Given the description of an element on the screen output the (x, y) to click on. 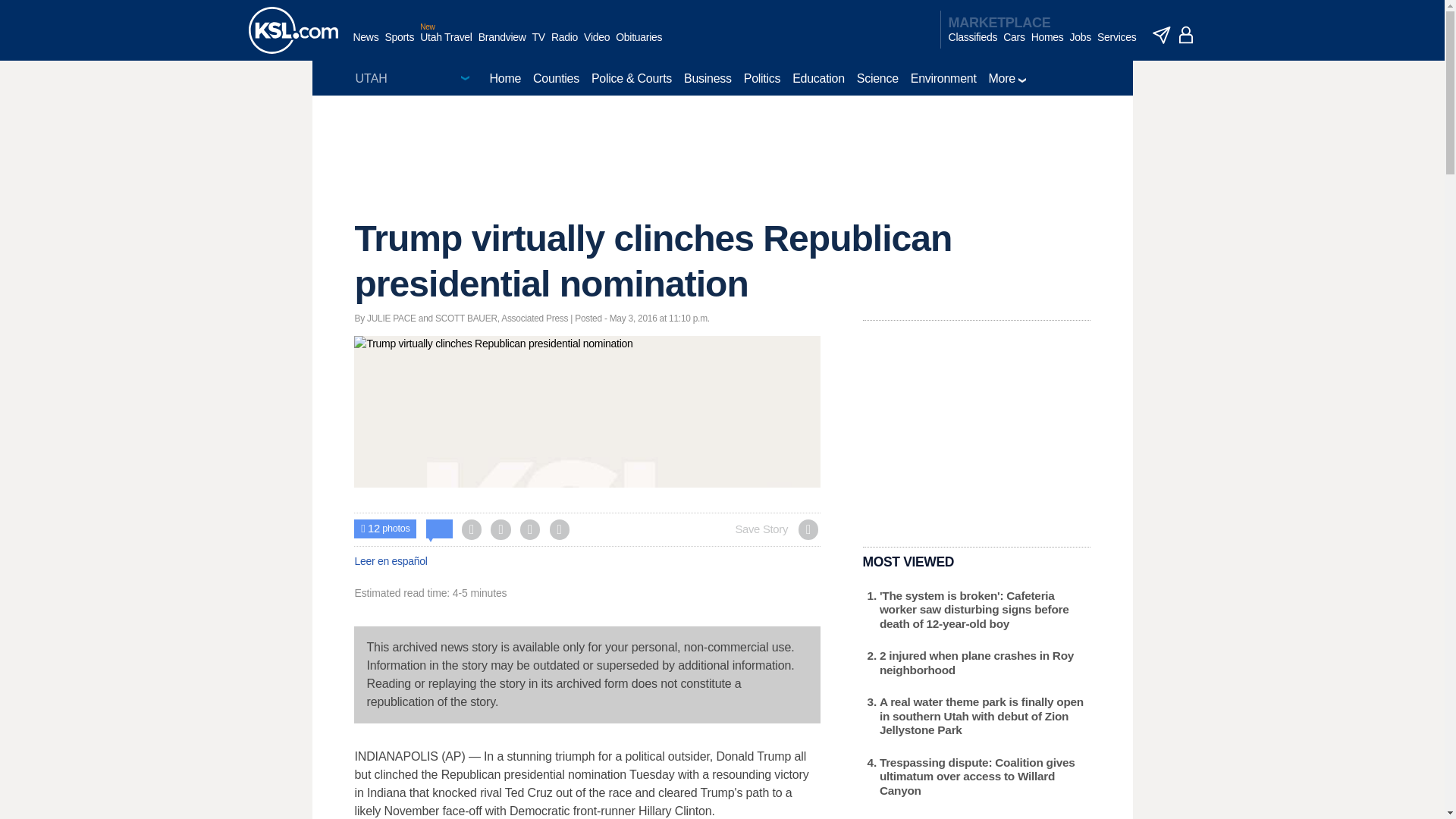
Sports (398, 45)
TV (538, 45)
account - logged out (1185, 34)
News (365, 45)
Brandview (502, 45)
KSL homepage (292, 30)
KSL homepage (292, 29)
Utah Travel (445, 45)
